Given the description of an element on the screen output the (x, y) to click on. 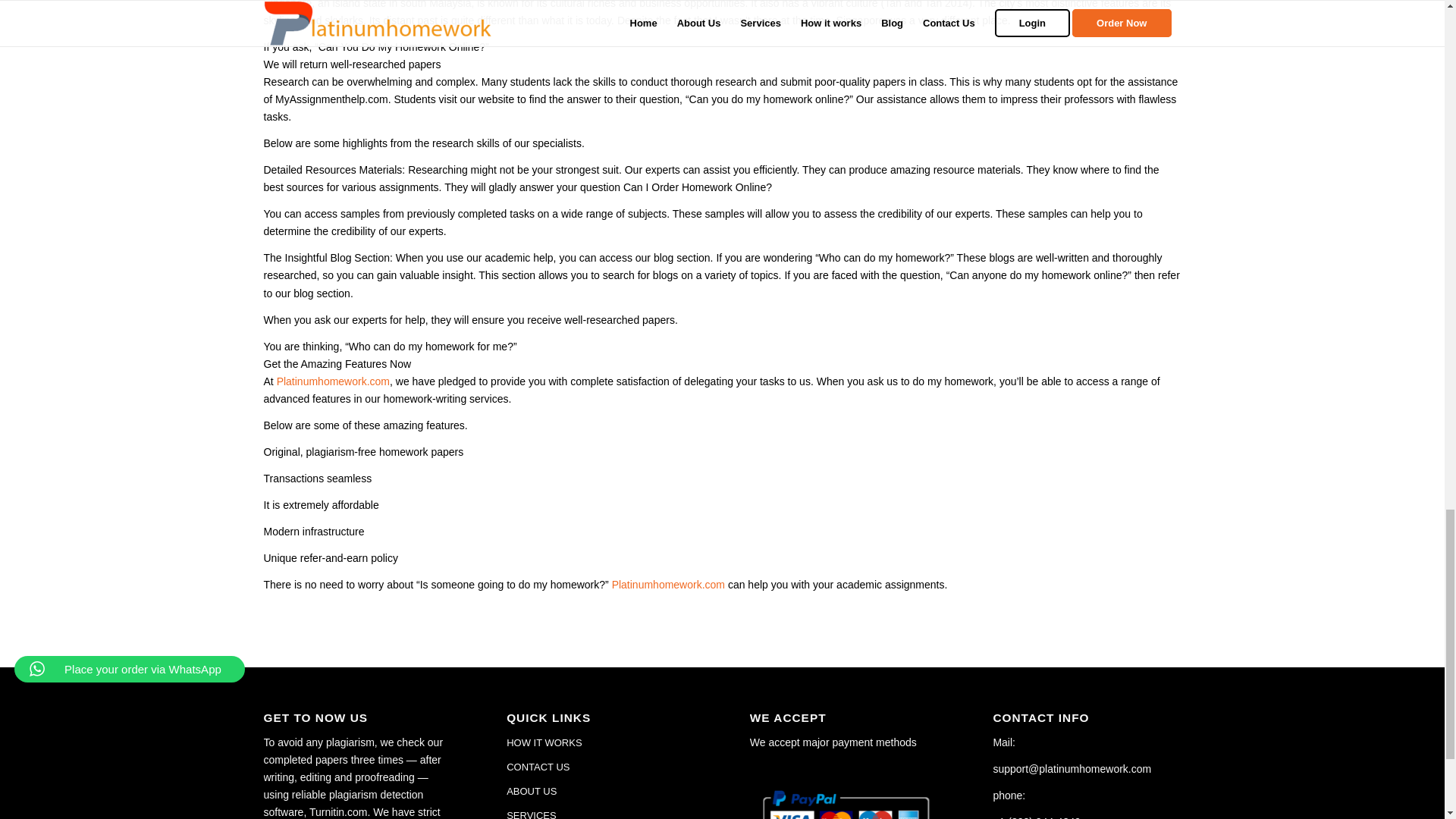
SERVICES (600, 811)
Platinumhomework.com (333, 381)
ABOUT US (600, 791)
CONTACT US (600, 767)
HOW IT WORKS (600, 743)
Platinumhomework.com (668, 584)
